Given the description of an element on the screen output the (x, y) to click on. 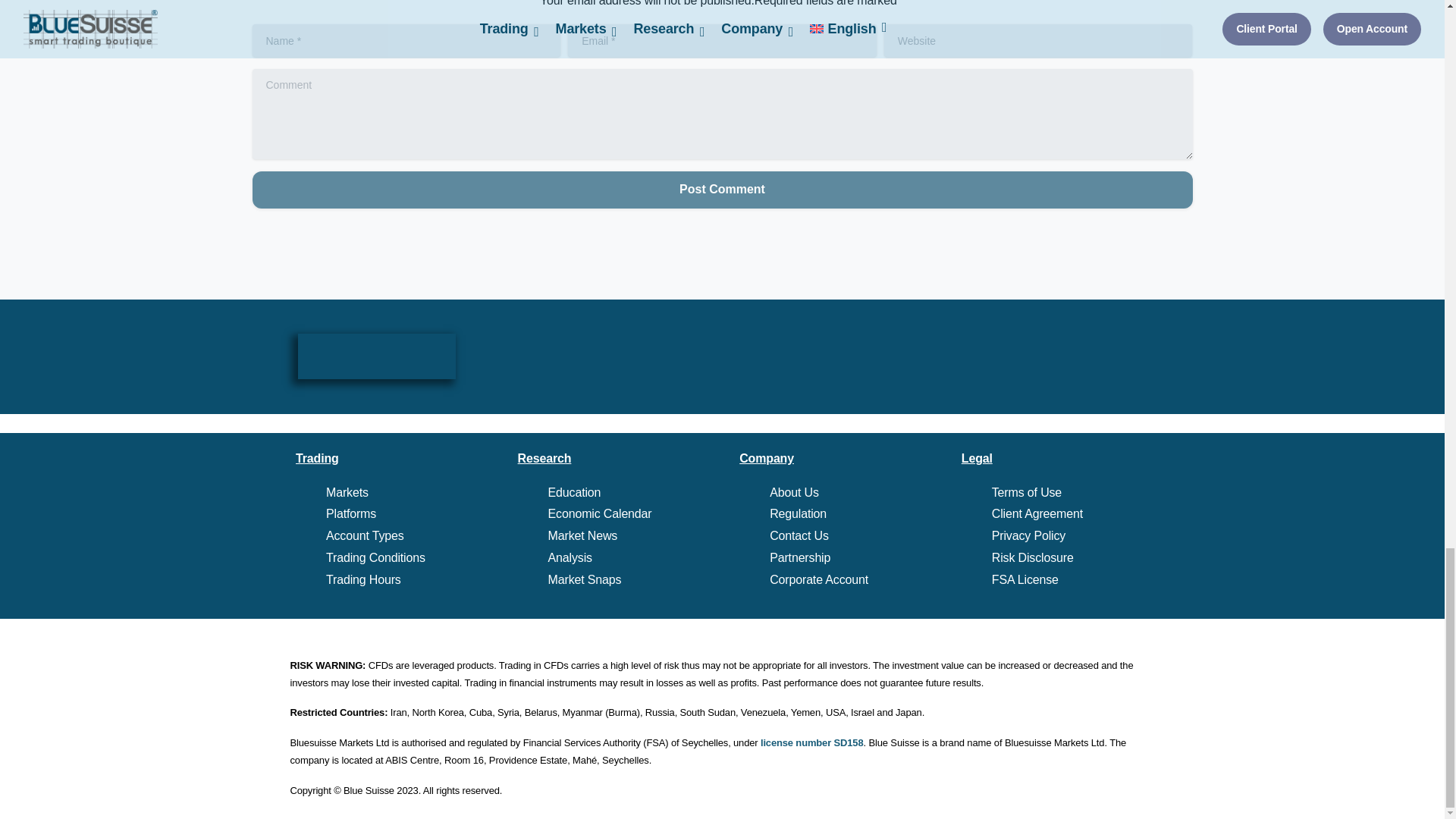
Post Comment (721, 189)
